Given the description of an element on the screen output the (x, y) to click on. 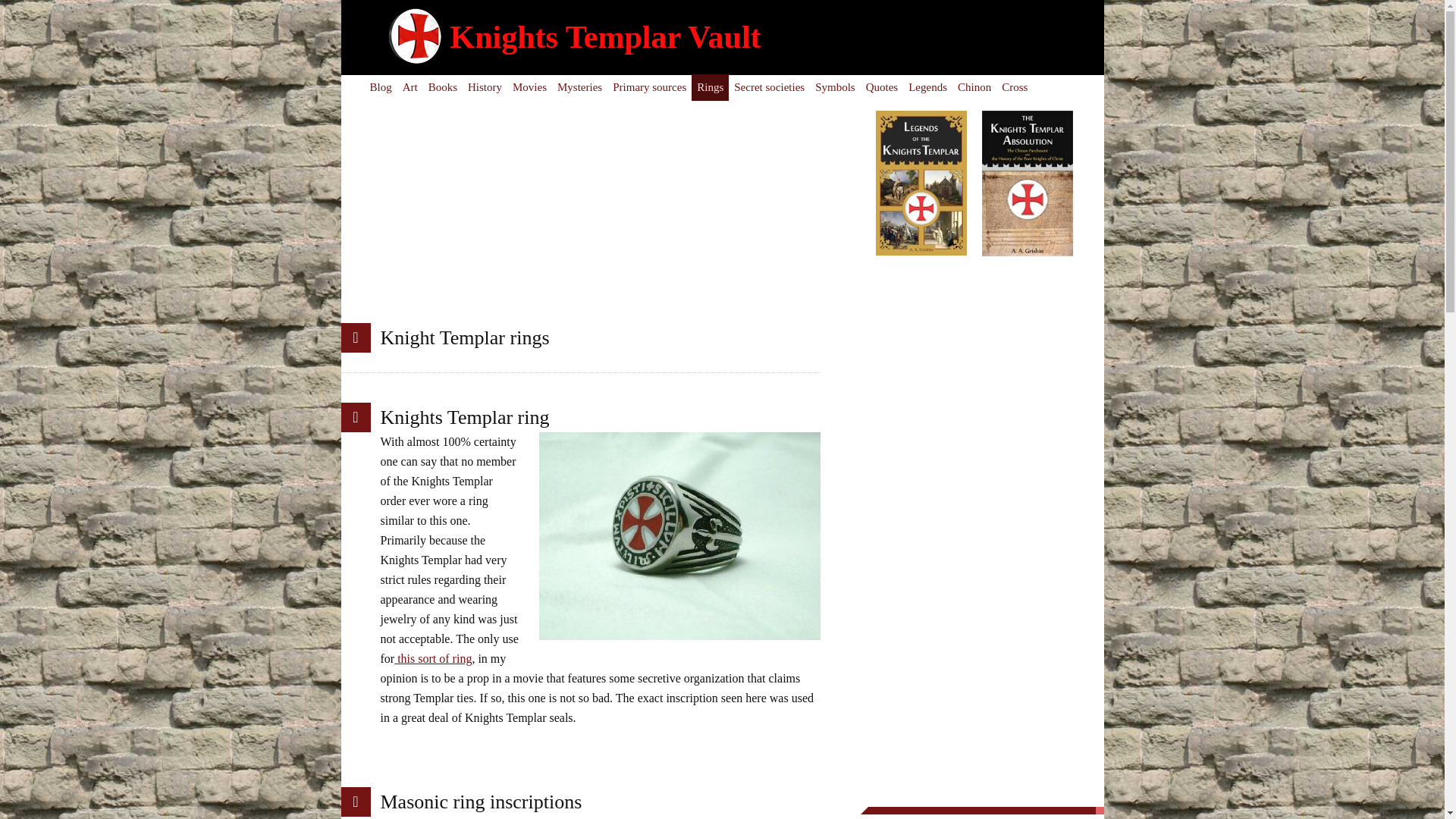
History (484, 87)
this sort of ring (432, 658)
Rings (710, 87)
Movies (528, 87)
Knights Templar Vault (605, 36)
Primary sources (649, 87)
Secret societies (769, 87)
Masonic ring inscriptions (481, 802)
Templar Rings (710, 87)
Knights Templar ring (465, 417)
Advertisement (981, 531)
Symbols (834, 87)
Advertisement (600, 216)
Mysteries (579, 87)
Books (443, 87)
